Given the description of an element on the screen output the (x, y) to click on. 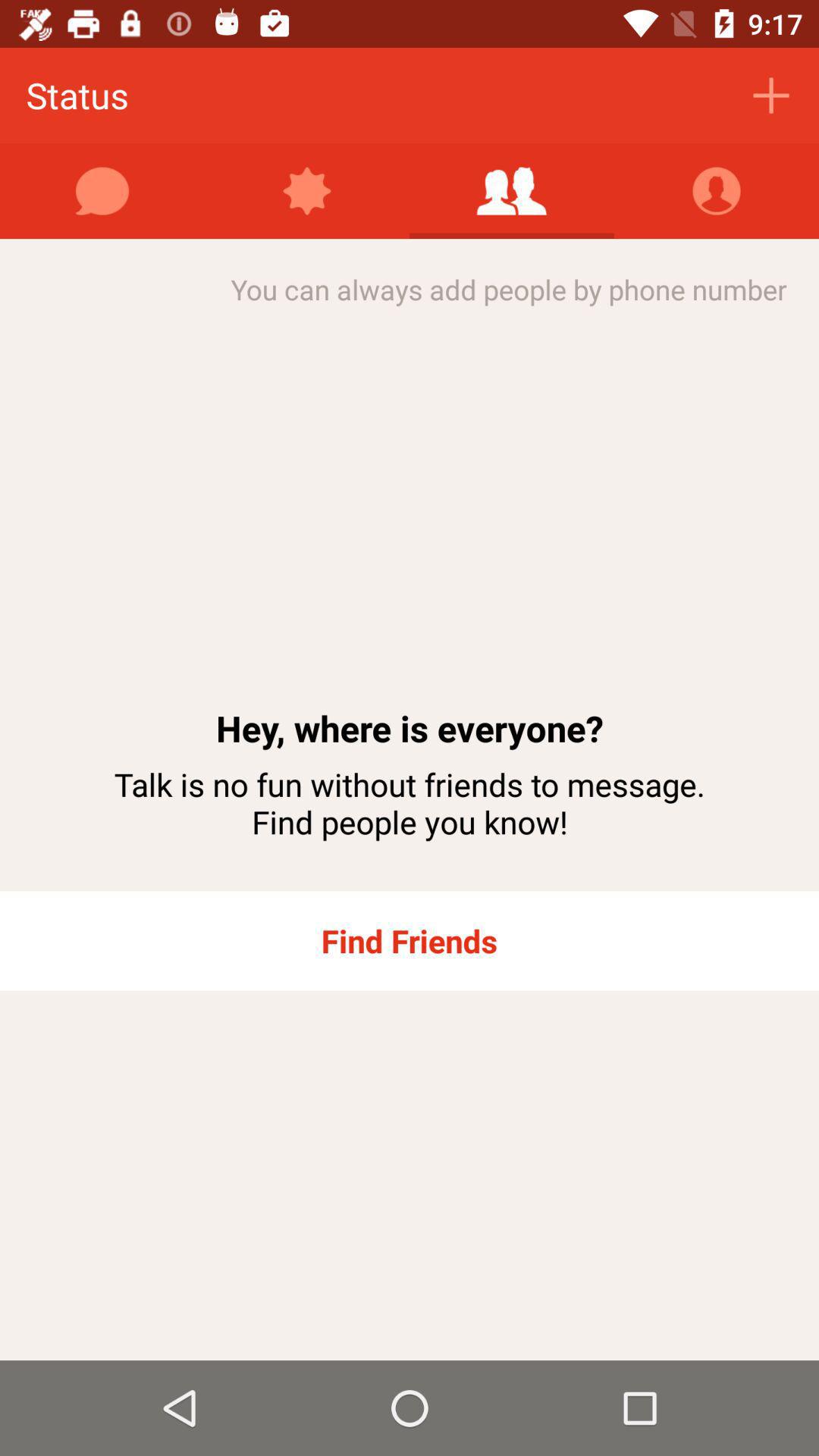
friends tab (511, 190)
